Given the description of an element on the screen output the (x, y) to click on. 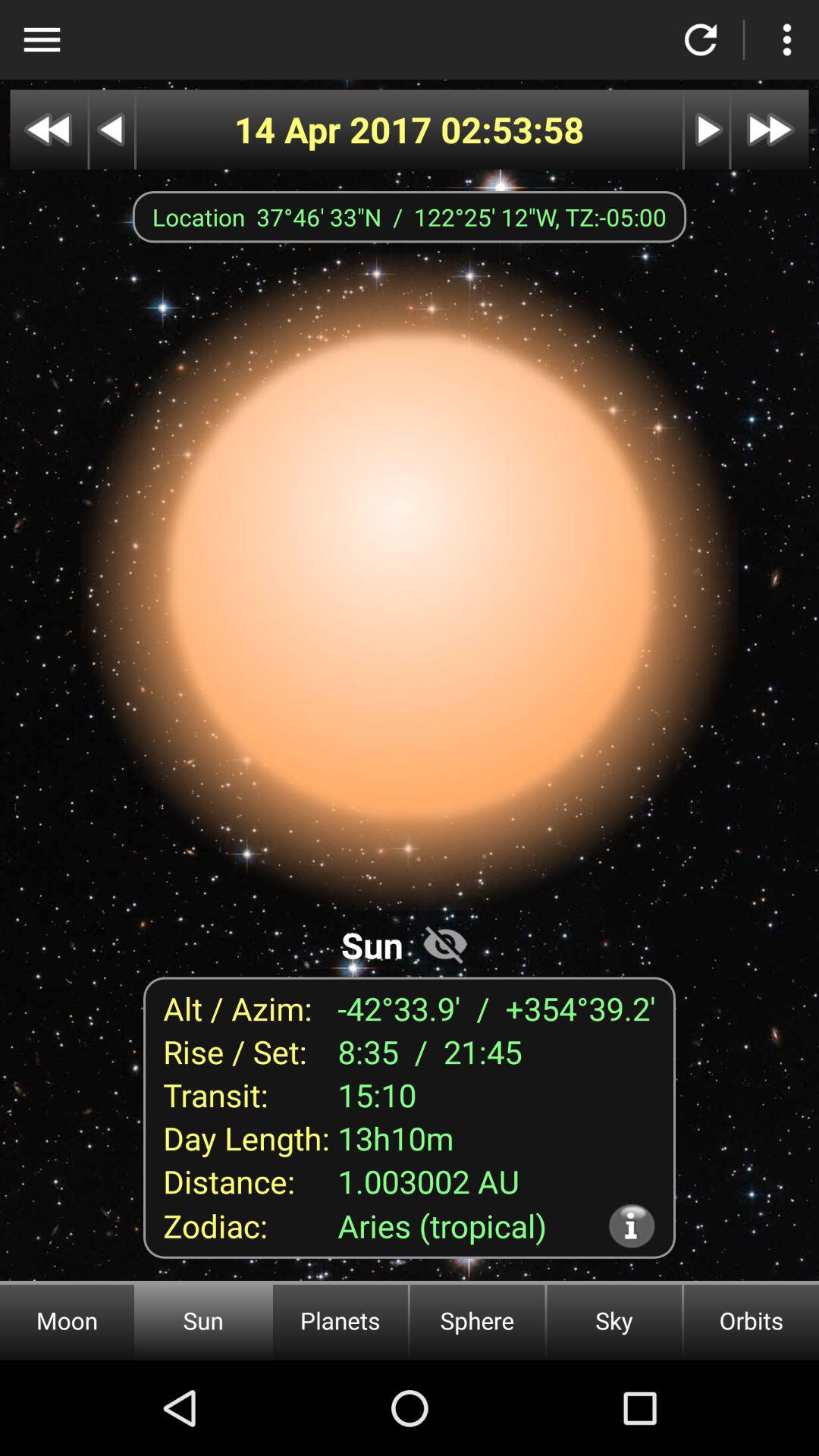
swipe until 14 apr 2017 (337, 129)
